Given the description of an element on the screen output the (x, y) to click on. 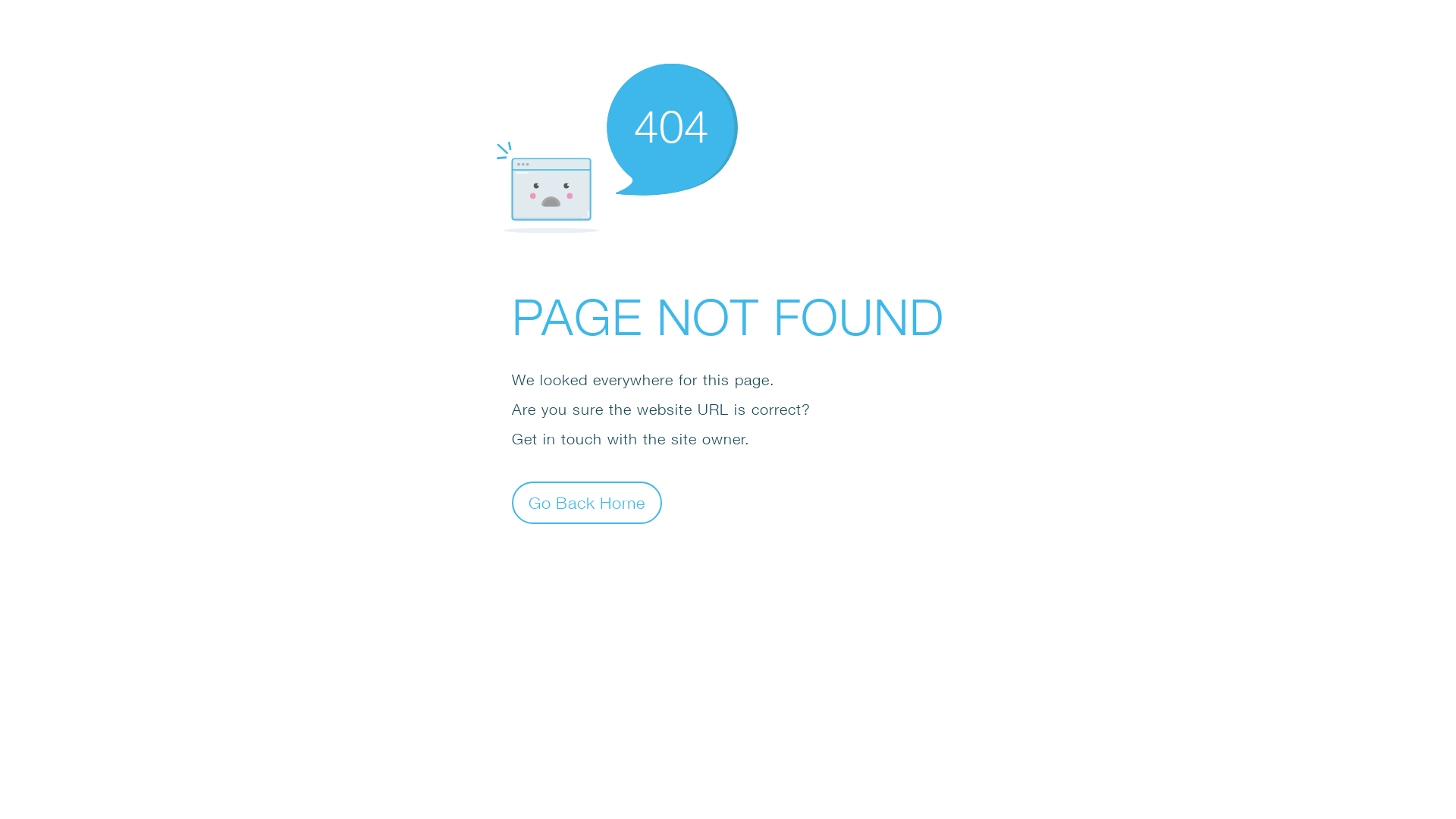
Go Back Home Element type: text (586, 502)
